Given the description of an element on the screen output the (x, y) to click on. 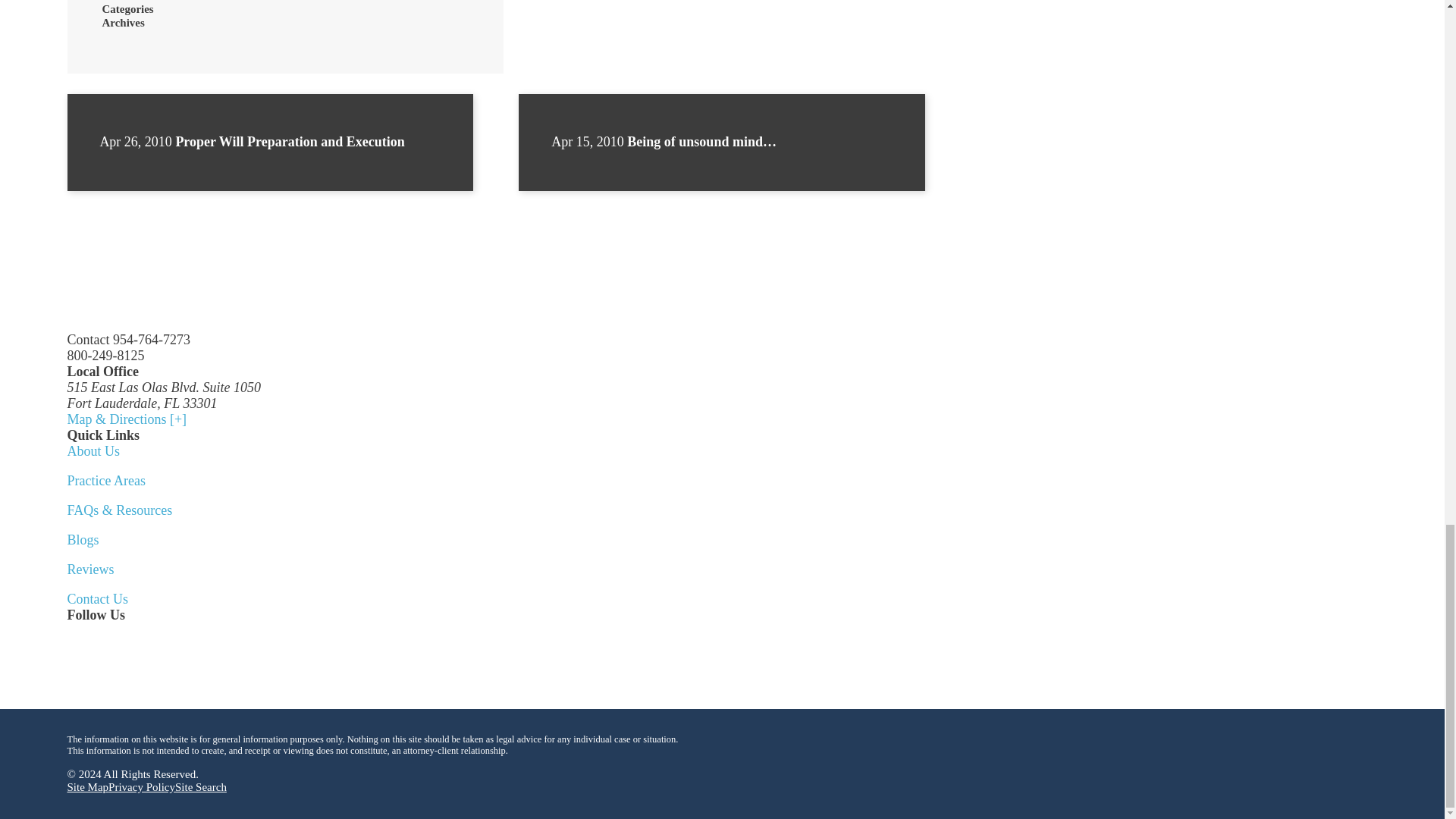
Facebook (125, 646)
Twitter (75, 646)
